Given the description of an element on the screen output the (x, y) to click on. 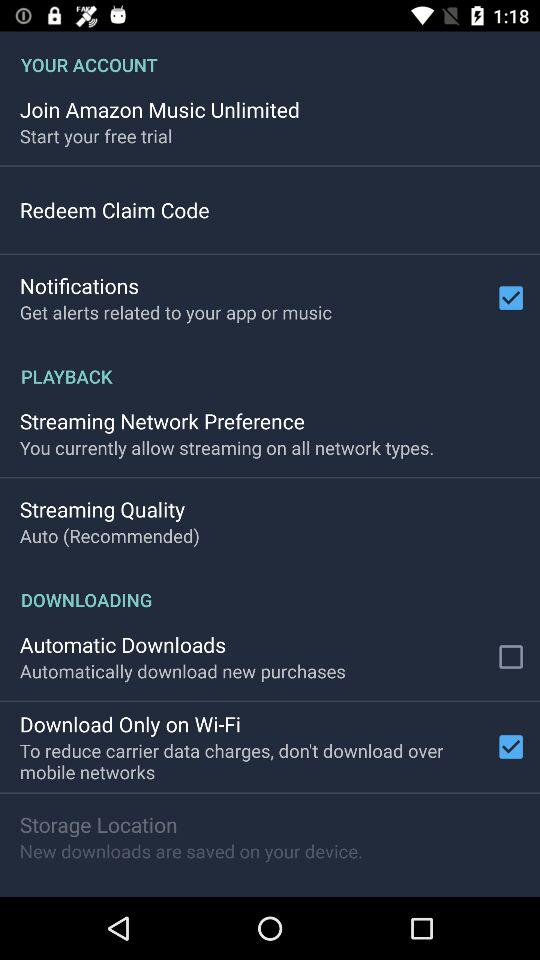
press the icon above the start your free icon (159, 109)
